Given the description of an element on the screen output the (x, y) to click on. 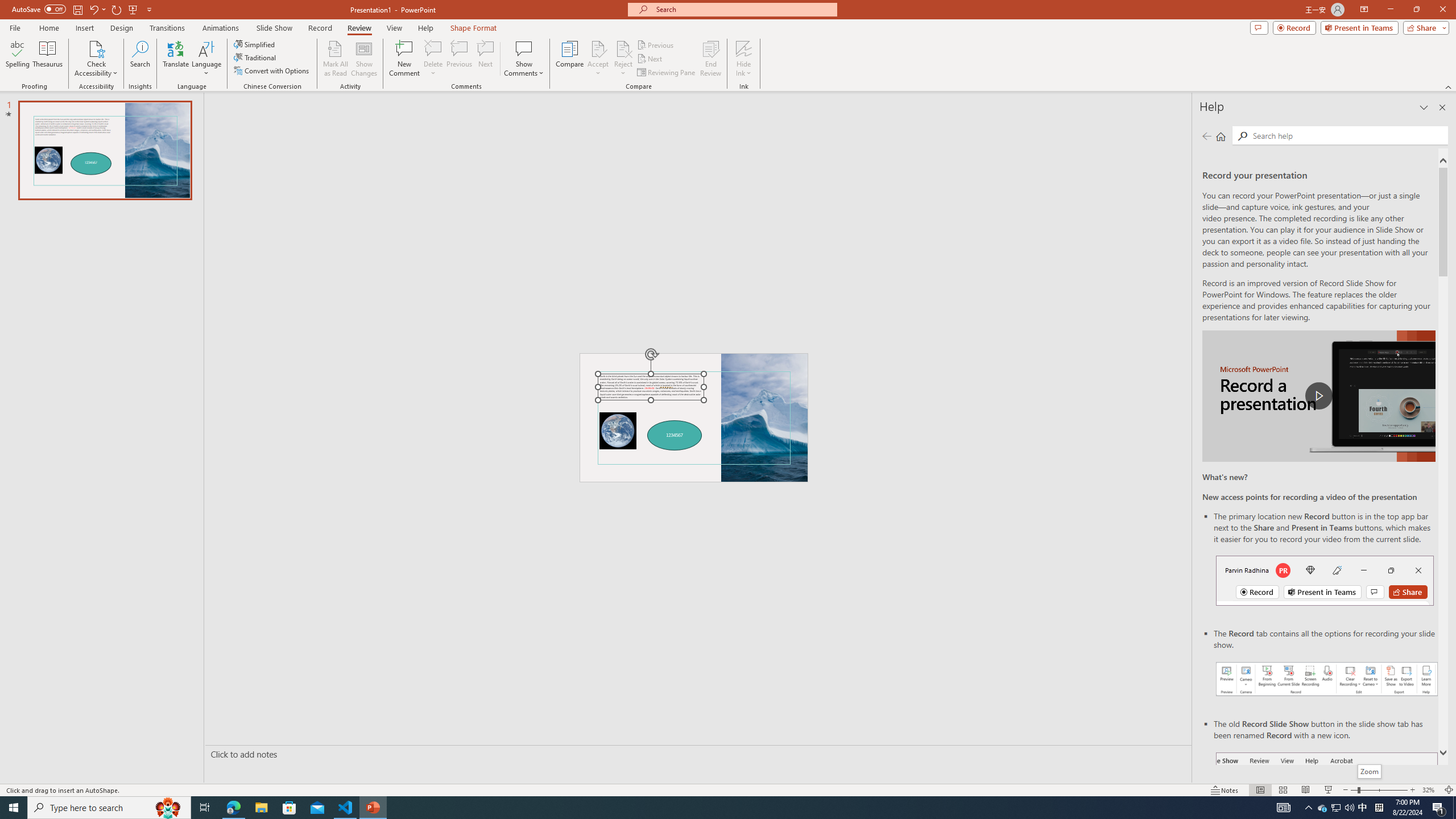
Language (206, 58)
Translate (175, 58)
